Given the description of an element on the screen output the (x, y) to click on. 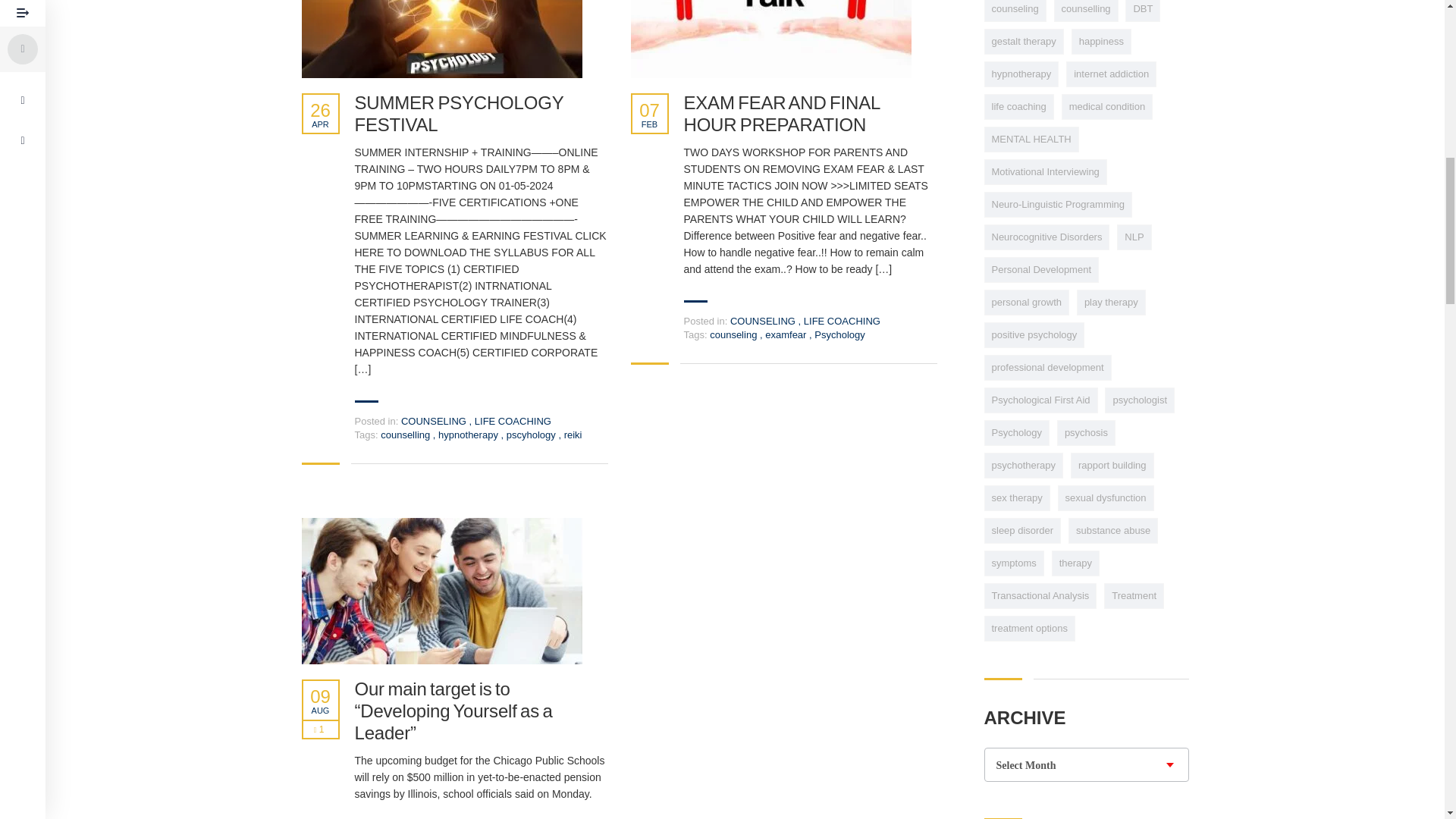
Watch full (441, 590)
Watch full (441, 38)
Select Month (1086, 765)
Watch full (770, 38)
